Given the description of an element on the screen output the (x, y) to click on. 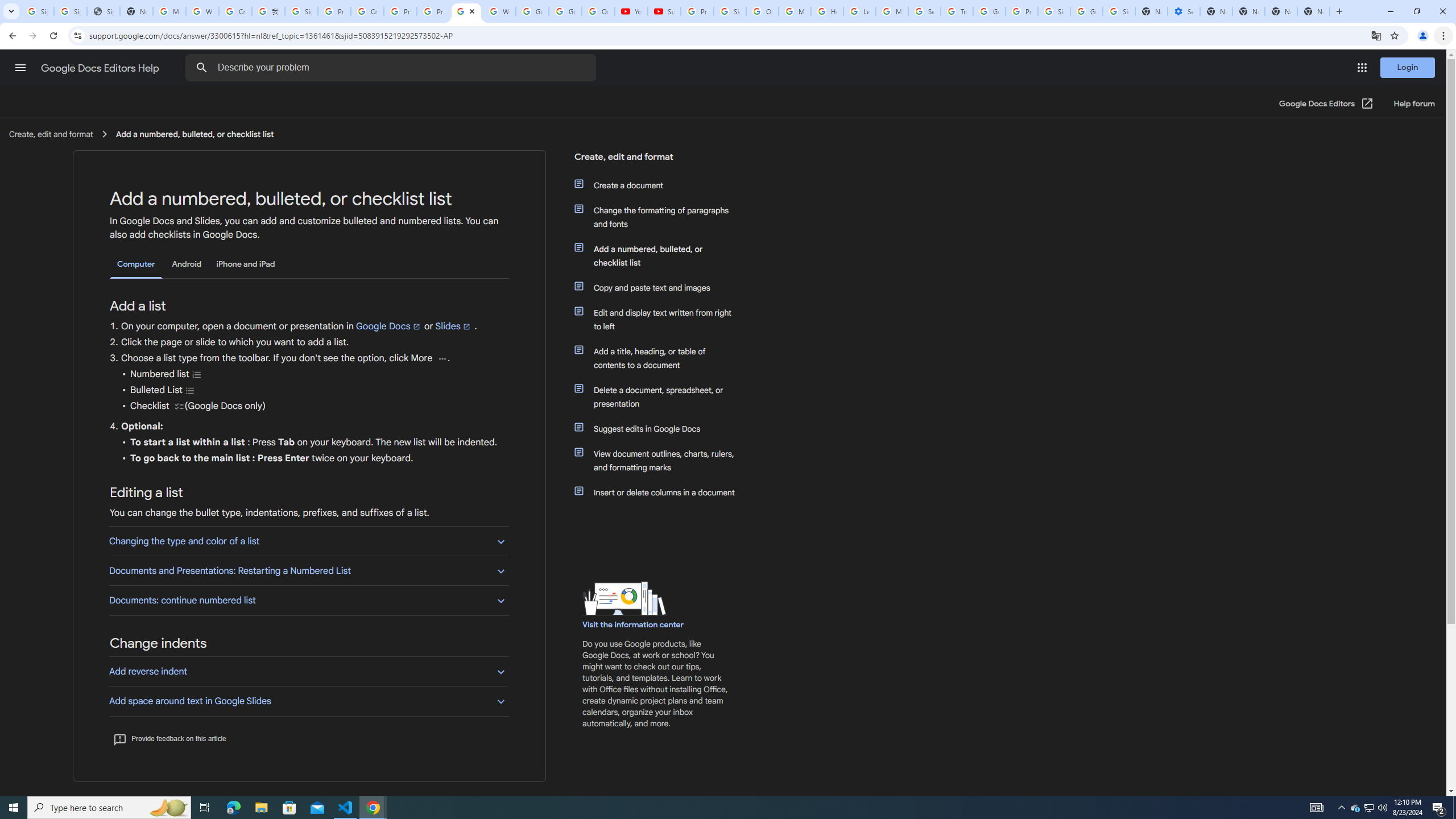
Delete a document, spreadsheet, or presentation (661, 396)
Create a document (661, 185)
iPhone and iPad (245, 263)
More (441, 357)
Settings - Performance (1183, 11)
Login (1407, 67)
Add a numbered, bulleted, or checklist list (661, 255)
Welcome to My Activity (499, 11)
